Given the description of an element on the screen output the (x, y) to click on. 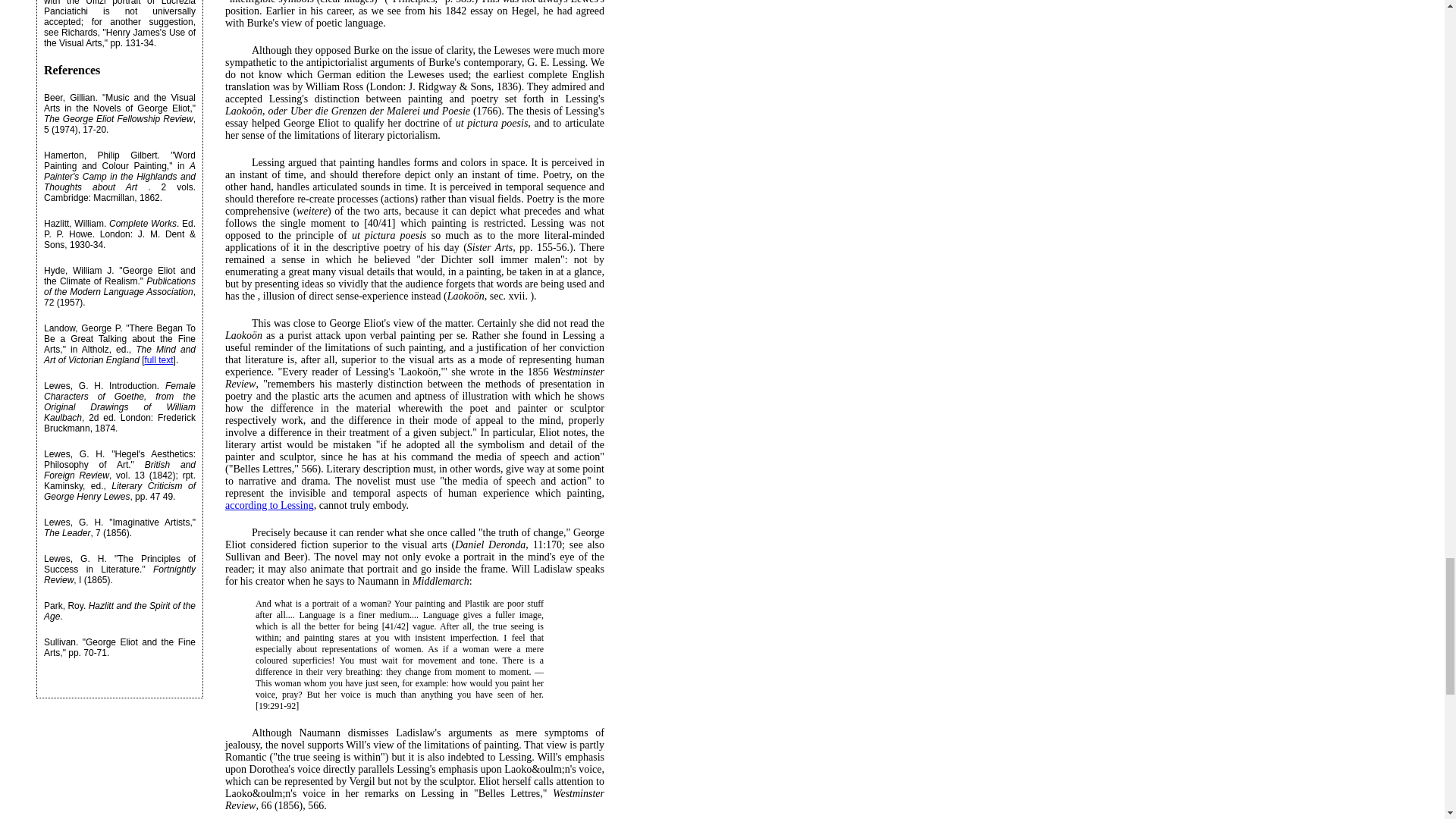
full text (158, 359)
